Given the description of an element on the screen output the (x, y) to click on. 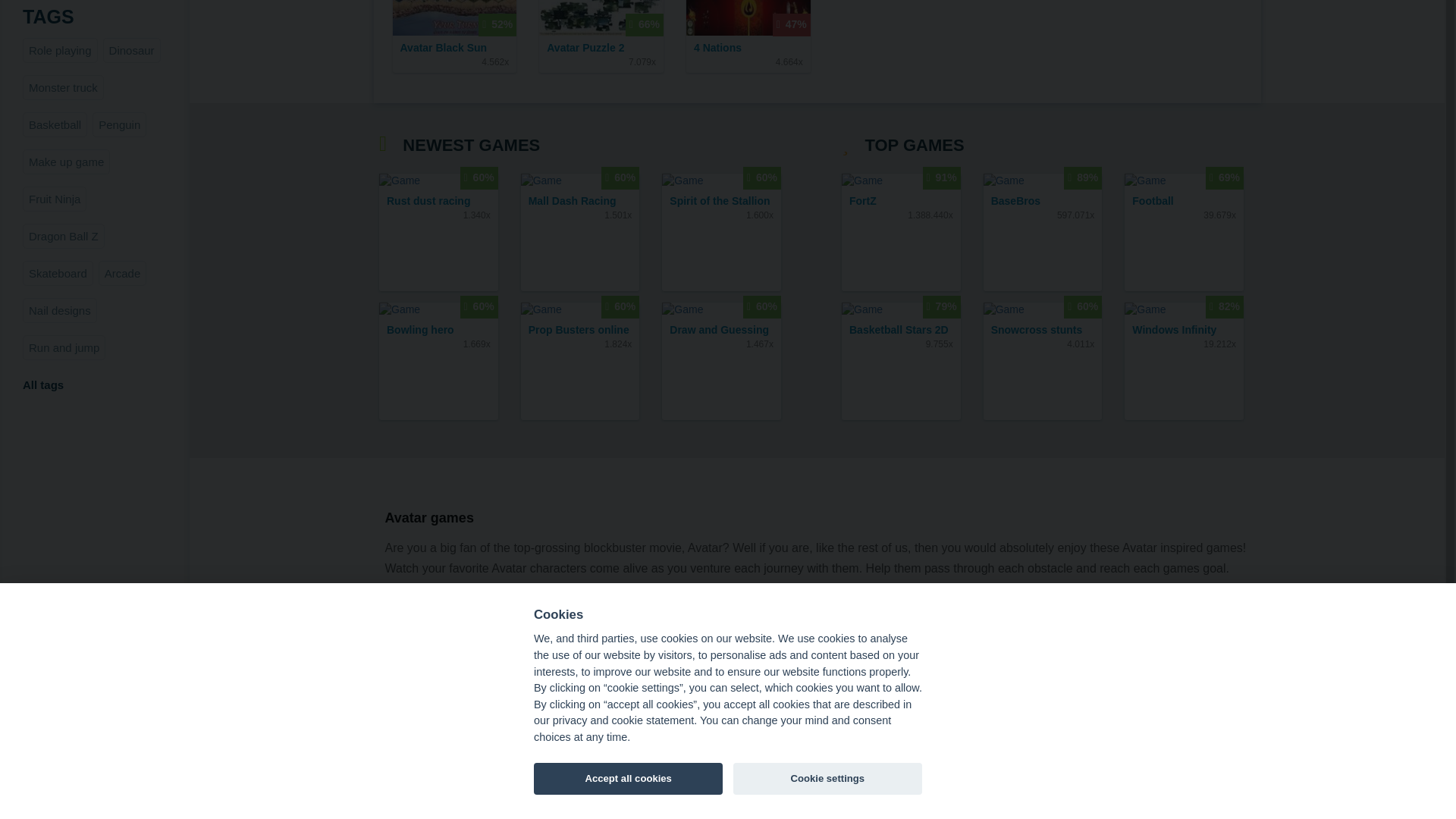
Monster truck (63, 87)
Make up game (66, 161)
Role playing (60, 50)
Basketball (55, 124)
Penguin (120, 124)
Dinosaur (131, 50)
